Given the description of an element on the screen output the (x, y) to click on. 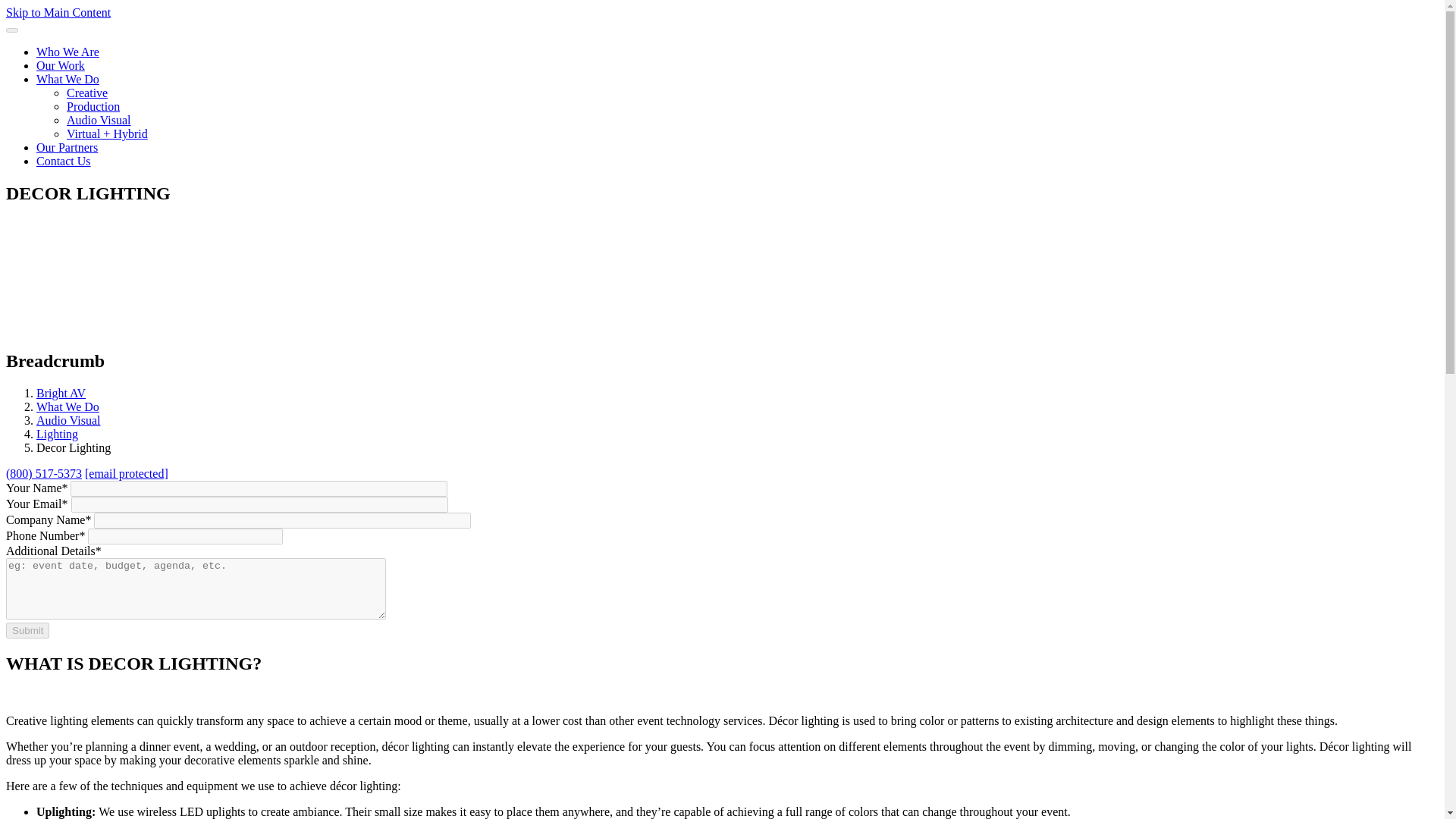
What We Do (67, 406)
Who We Are (67, 51)
Submit (27, 630)
Our Work (60, 65)
Audio Visual (98, 119)
Our Partners (66, 146)
Bright AV (60, 392)
Audio Visual (68, 420)
Contact Us (63, 160)
Creative (86, 92)
Submit (27, 630)
Skip to Main Content (57, 11)
Lighting (57, 433)
What We Do (67, 78)
video (118, 275)
